Given the description of an element on the screen output the (x, y) to click on. 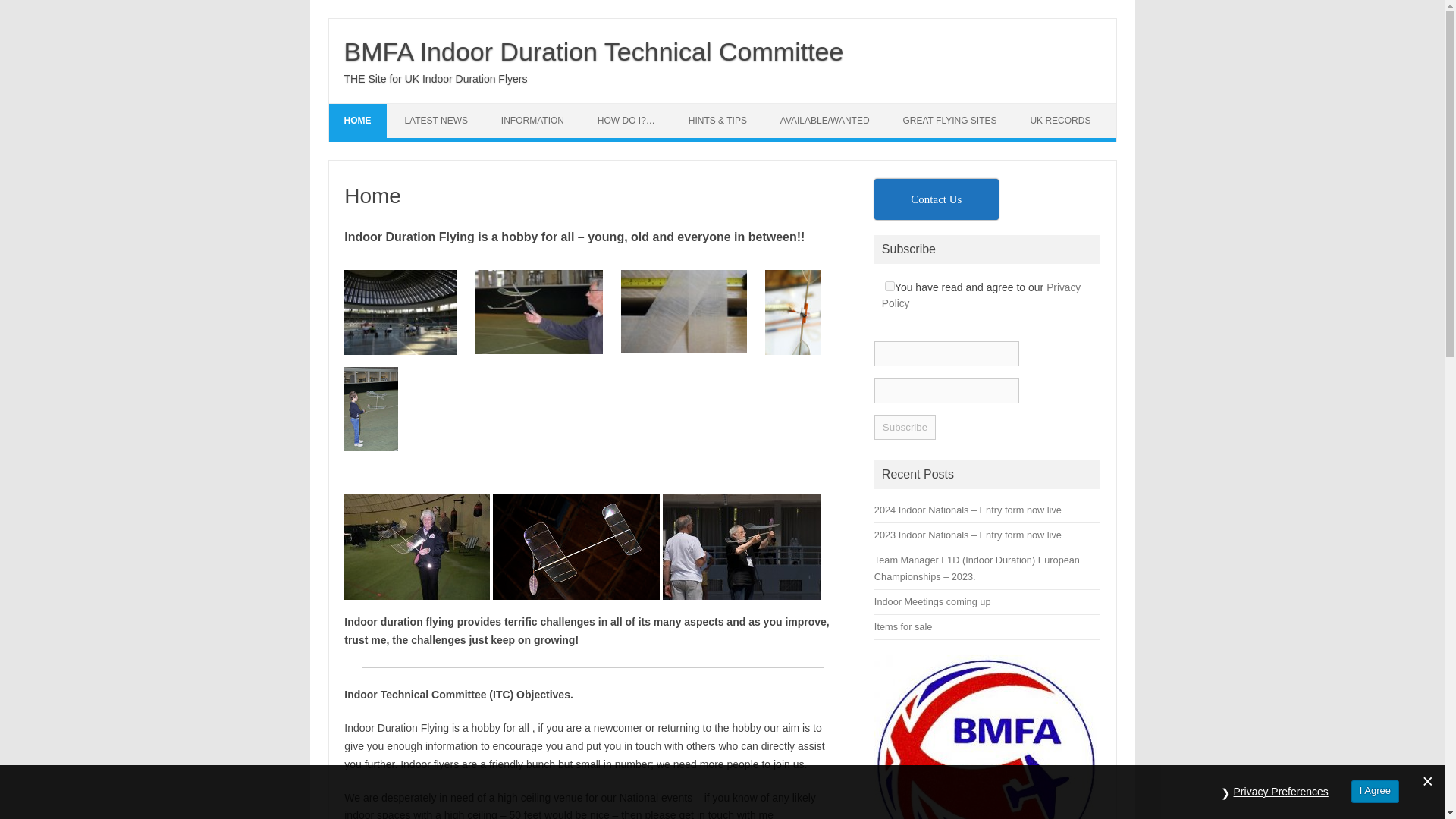
HOME (358, 120)
Contact Us (936, 199)
Subscribe (905, 426)
Subscribe (905, 426)
LATEST NEWS (435, 120)
BMFA Indoor Duration Technical Committee (593, 51)
Privacy Policy (981, 295)
Items for sale (903, 626)
THE Site for UK Indoor Duration Flyers (435, 78)
1 (890, 286)
Indoor Meetings coming up (933, 601)
INFORMATION (532, 120)
BMFA Indoor Duration Technical Committee (593, 51)
GREAT FLYING SITES (948, 120)
Skip to content (363, 108)
